Given the description of an element on the screen output the (x, y) to click on. 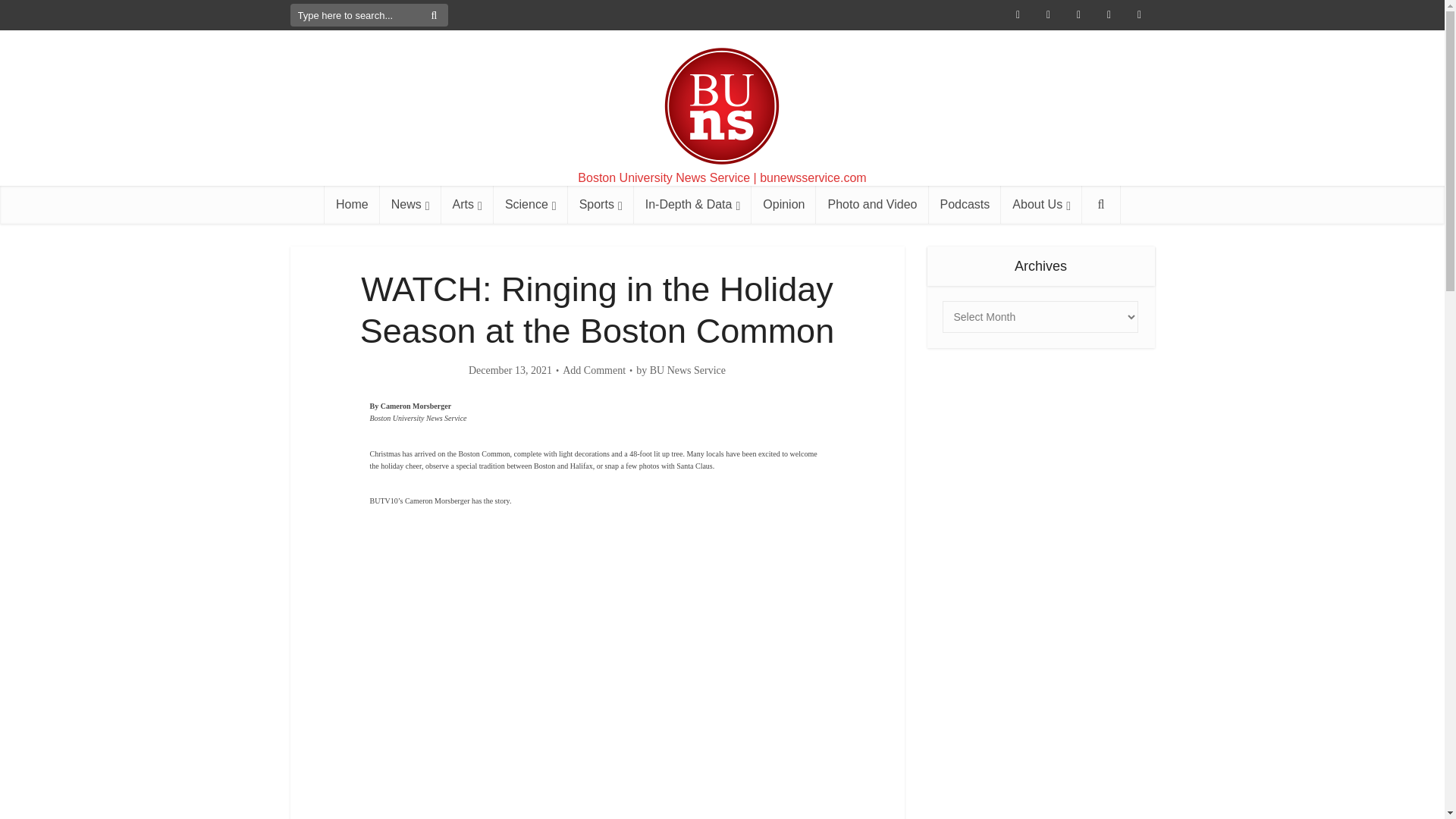
Science (530, 204)
News (410, 204)
Photo and Video (871, 204)
Arts (467, 204)
Ringing in the Holiday Season at the Boston Common (597, 658)
Podcasts (964, 204)
Opinion (783, 204)
Add Comment (594, 370)
About Us (1041, 204)
Type here to search... (367, 15)
